Given the description of an element on the screen output the (x, y) to click on. 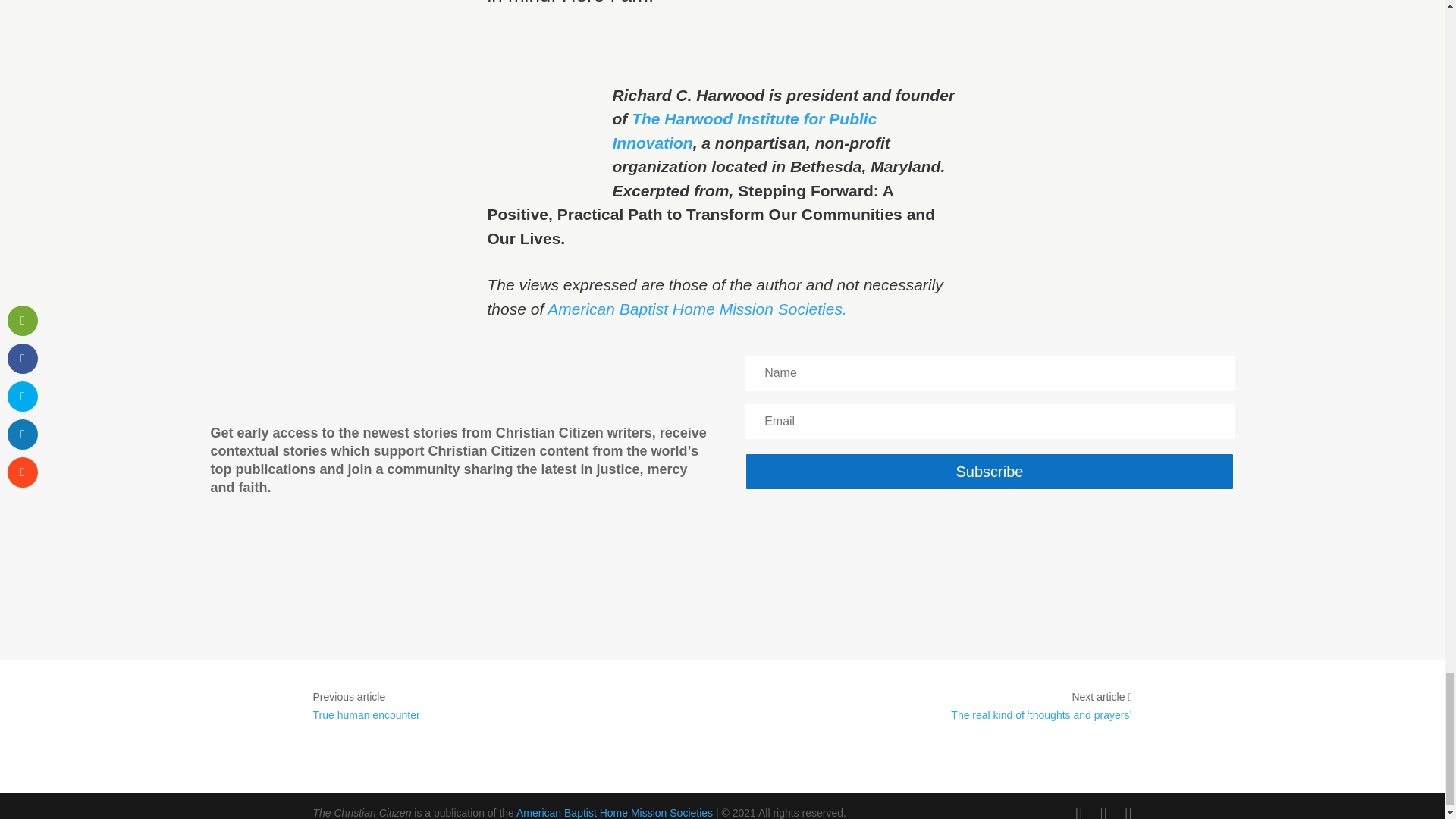
American Baptist Home Mission Societies. (696, 308)
Subscribe (988, 471)
True human encounter (366, 715)
American Baptist Home Mission Societies (614, 812)
The Harwood Institute for Public Innovation (744, 130)
